Given the description of an element on the screen output the (x, y) to click on. 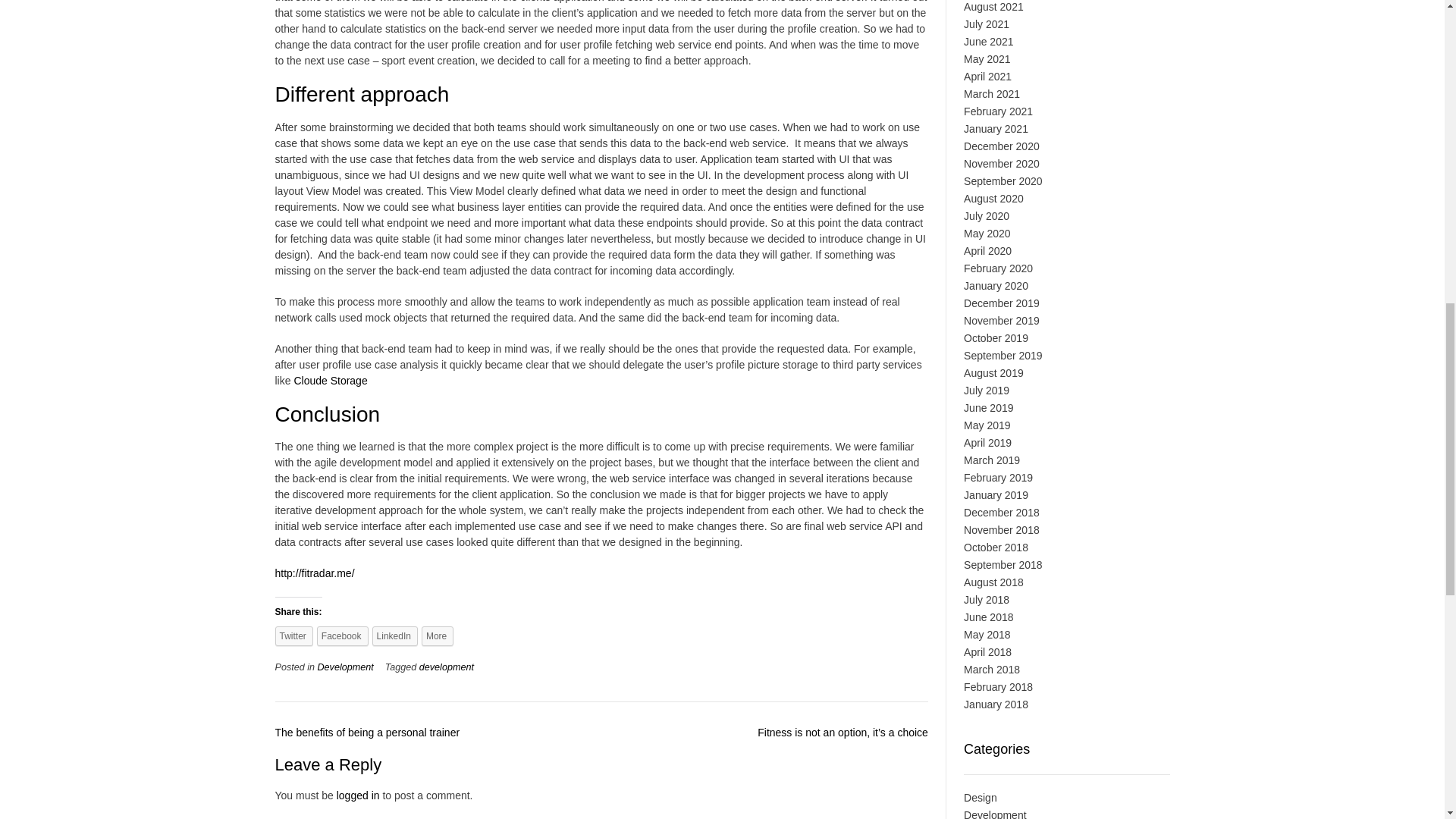
Click to share on LinkedIn (394, 636)
Click to share on Twitter (294, 636)
Twitter (294, 636)
The benefits of being a personal trainer (367, 732)
Click to share on Facebook (342, 636)
More (437, 636)
Development (345, 666)
LinkedIn (394, 636)
Facebook (342, 636)
development (446, 666)
